Given the description of an element on the screen output the (x, y) to click on. 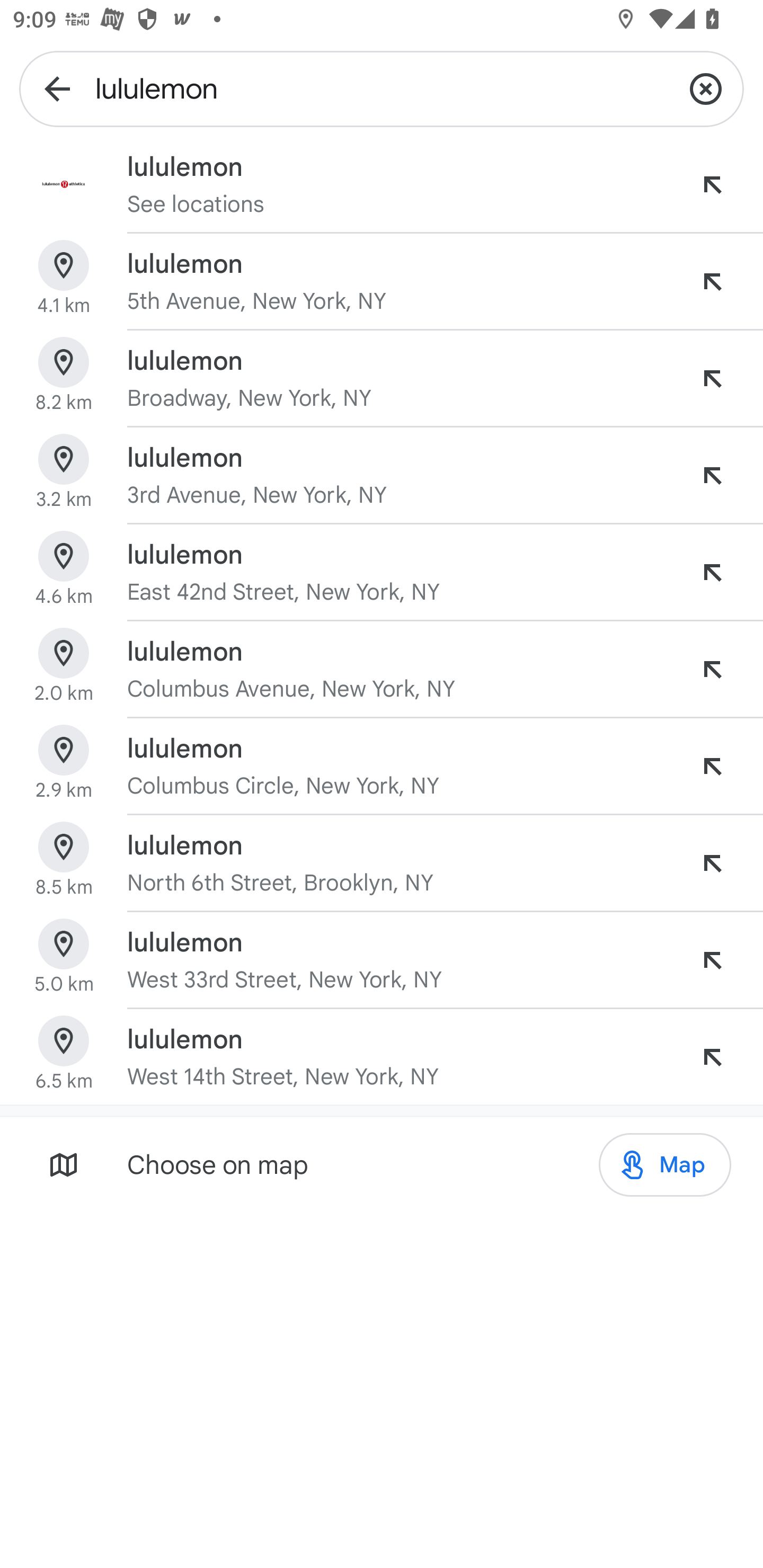
Navigate up (57, 88)
lululemon (381, 88)
Clear (705, 88)
Choose on map Map Map Map (381, 1164)
Map Map Map (664, 1164)
